Given the description of an element on the screen output the (x, y) to click on. 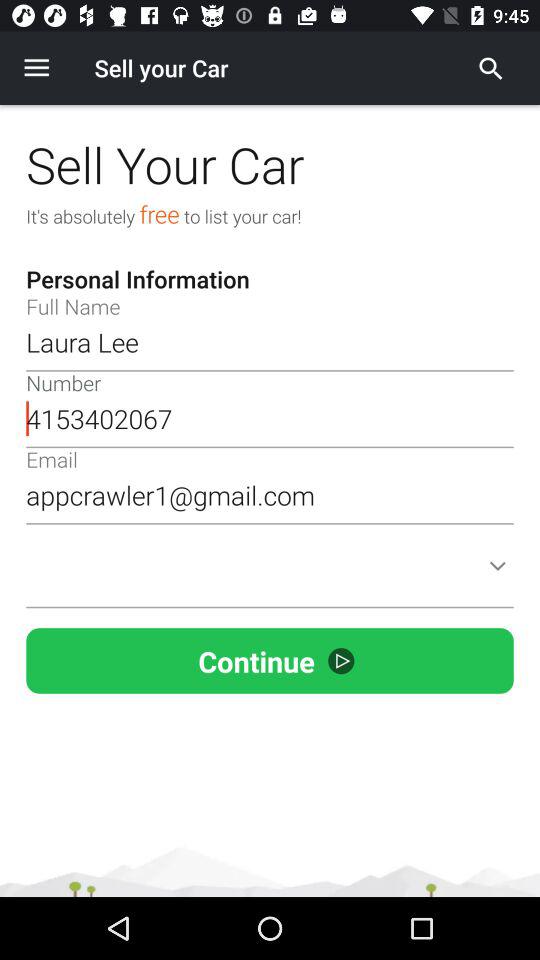
choose item at the top right corner (491, 68)
